Given the description of an element on the screen output the (x, y) to click on. 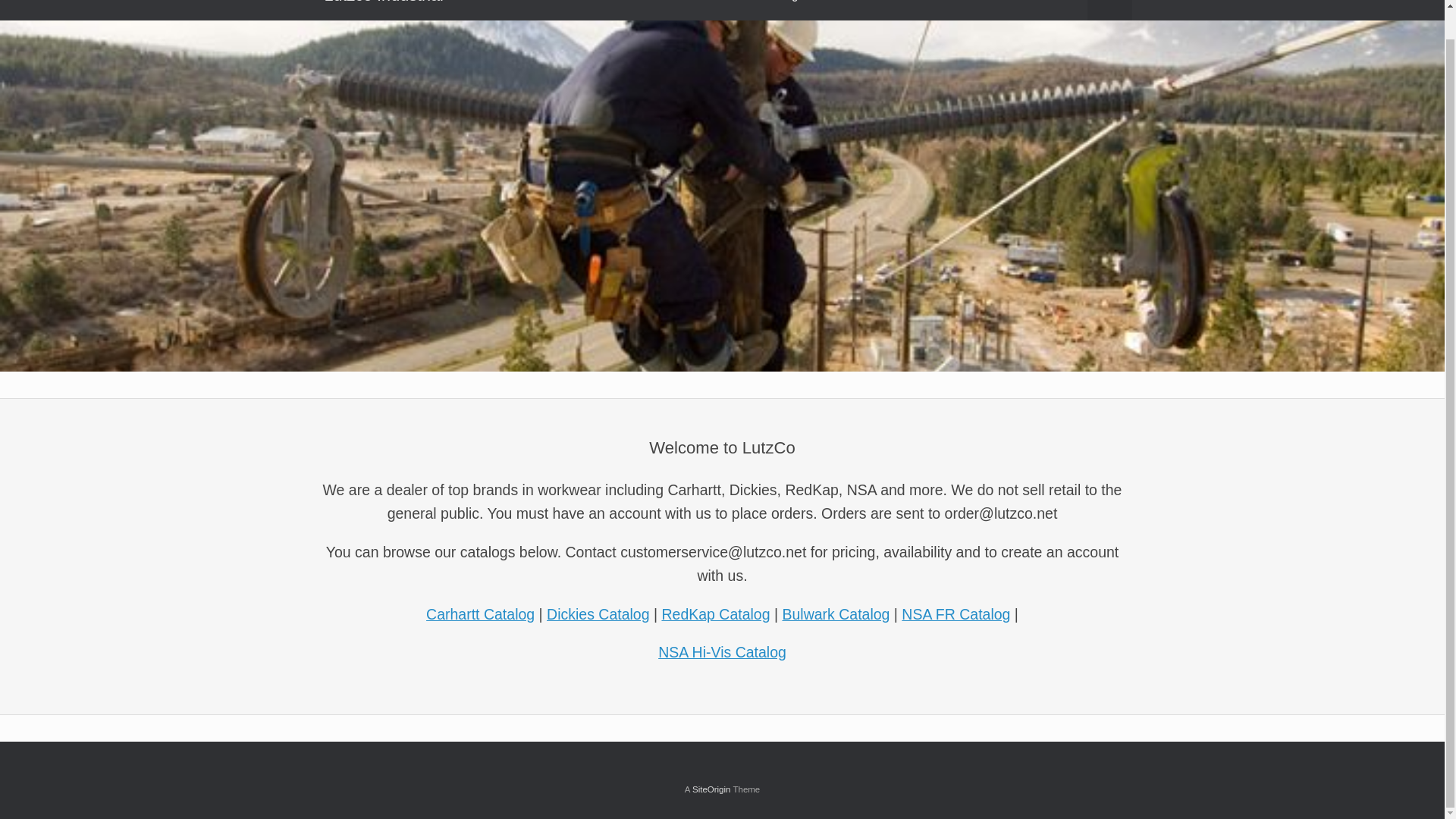
RedKap Catalog (715, 614)
NSA FR Catalog (955, 614)
Home Page (776, 7)
Carhartt Catalog (480, 614)
Dickies Catalog (598, 614)
Lutzco Industrial (383, 10)
Bulwark Catalog (835, 614)
SiteOrigin (711, 788)
NSA Hi-Vis Catalog (722, 651)
Lutzco Industrial (383, 10)
